Given the description of an element on the screen output the (x, y) to click on. 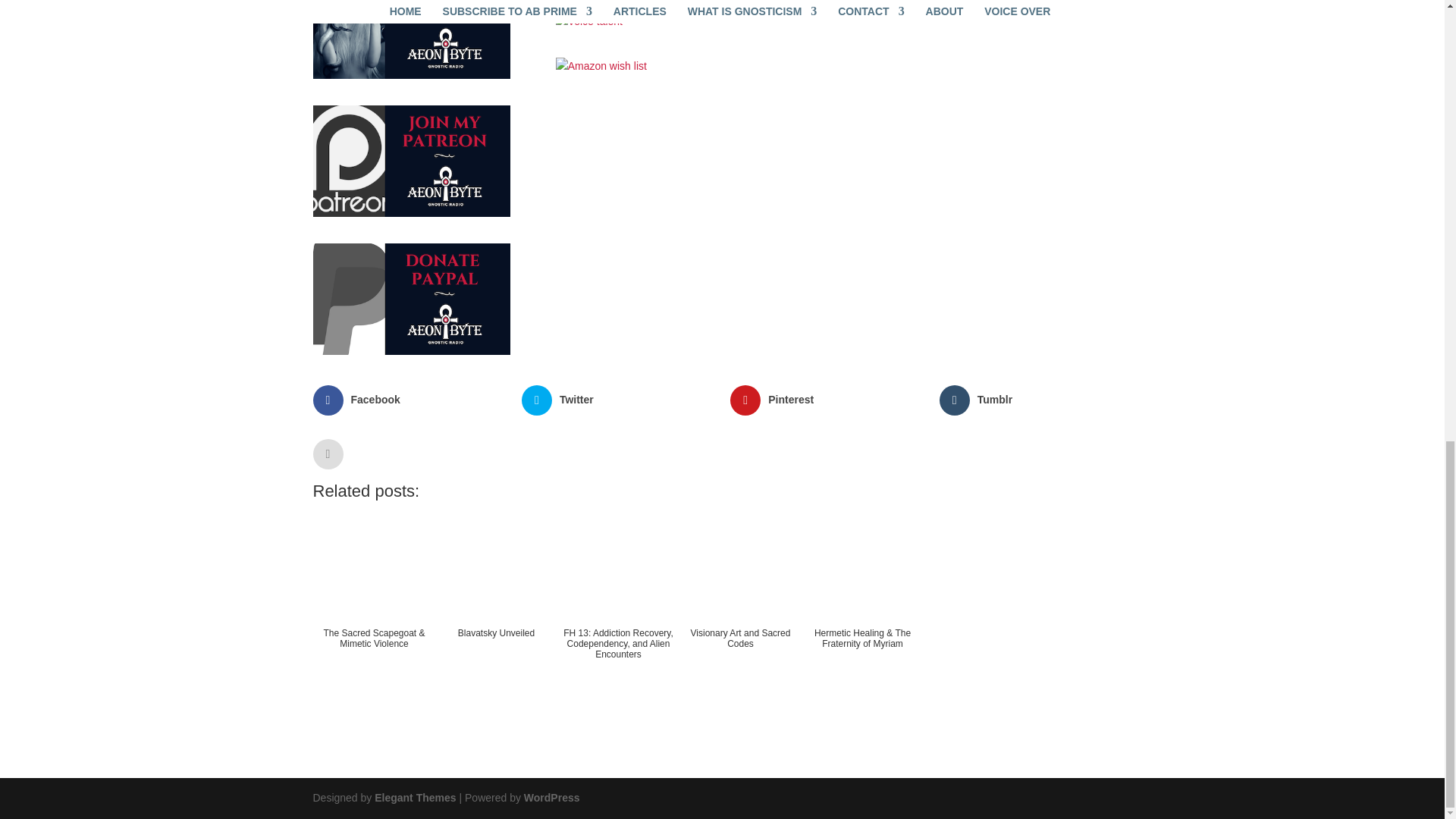
WordPress (551, 797)
Twitter (617, 399)
Facebook (409, 399)
Premium WordPress Themes (414, 797)
Elegant Themes (414, 797)
Pinterest (826, 399)
Tumblr (1035, 399)
